Given the description of an element on the screen output the (x, y) to click on. 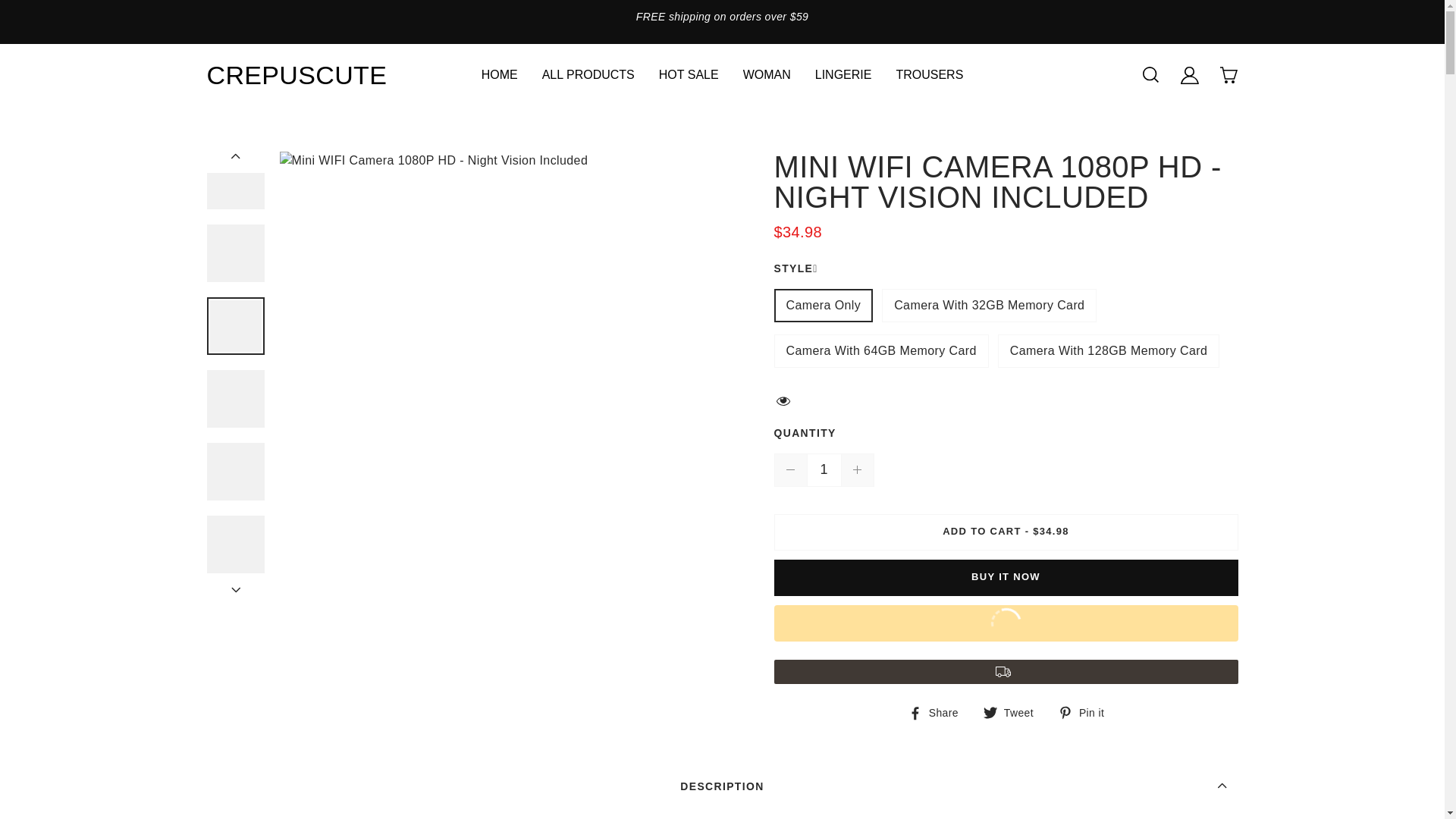
WOMAN (766, 75)
HOT SALE (689, 75)
LINGERIE (843, 75)
TROUSERS (928, 75)
Pin it (1080, 713)
1 (823, 469)
HOME (499, 75)
Tweet (1007, 713)
Share (932, 713)
ALL PRODUCTS (587, 75)
CREPUSCUTE (259, 74)
BUY IT NOW (1005, 577)
